Given the description of an element on the screen output the (x, y) to click on. 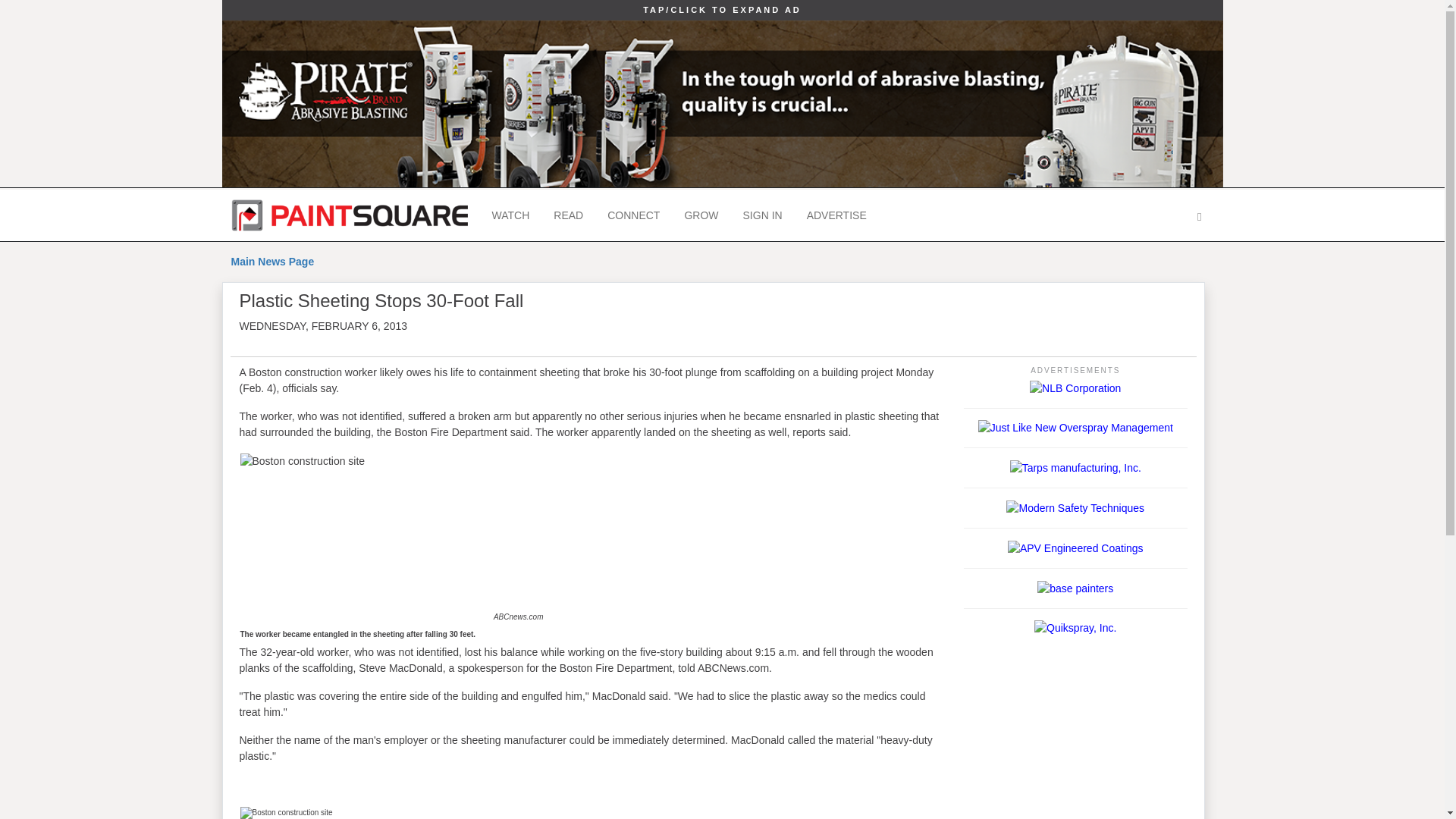
READ (568, 215)
PaintSquare Home (348, 214)
WATCH (510, 215)
